Given the description of an element on the screen output the (x, y) to click on. 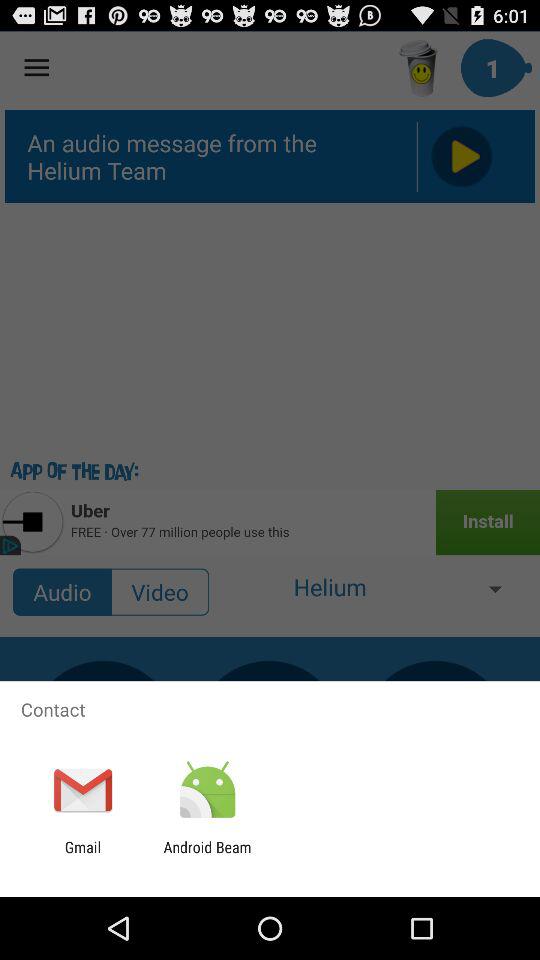
jump to the android beam (207, 856)
